Given the description of an element on the screen output the (x, y) to click on. 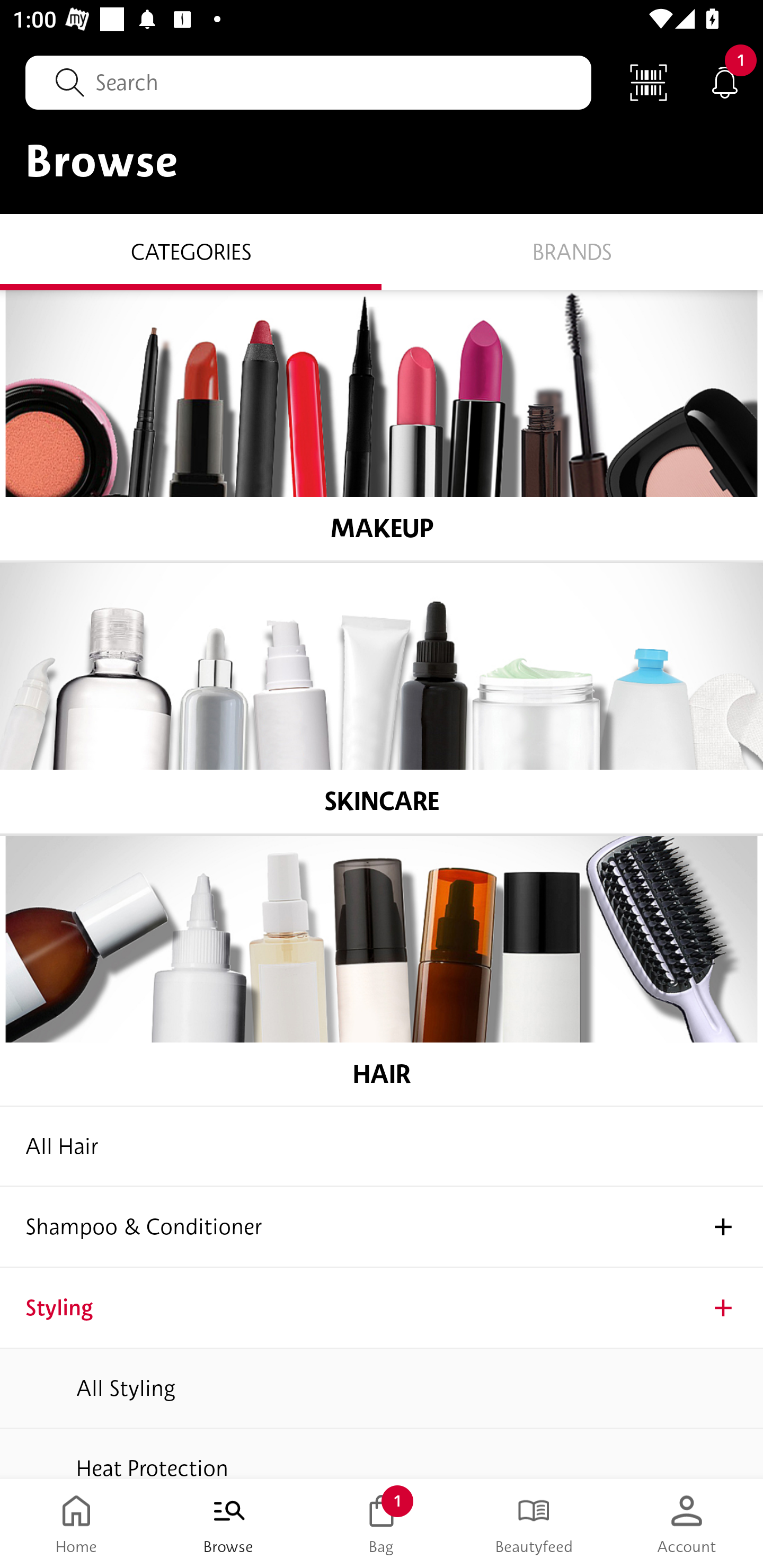
Scan Code (648, 81)
Notifications (724, 81)
Search (308, 81)
Brands BRANDS (572, 251)
MAKEUP (381, 425)
SKINCARE (381, 698)
All Hair (381, 1146)
Shampoo & Conditioner (381, 1227)
Styling All Styling Heat Protection (381, 1373)
All Styling (381, 1388)
Heat Protection (381, 1453)
Home (76, 1523)
Bag 1 Bag (381, 1523)
Beautyfeed (533, 1523)
Account (686, 1523)
